Given the description of an element on the screen output the (x, y) to click on. 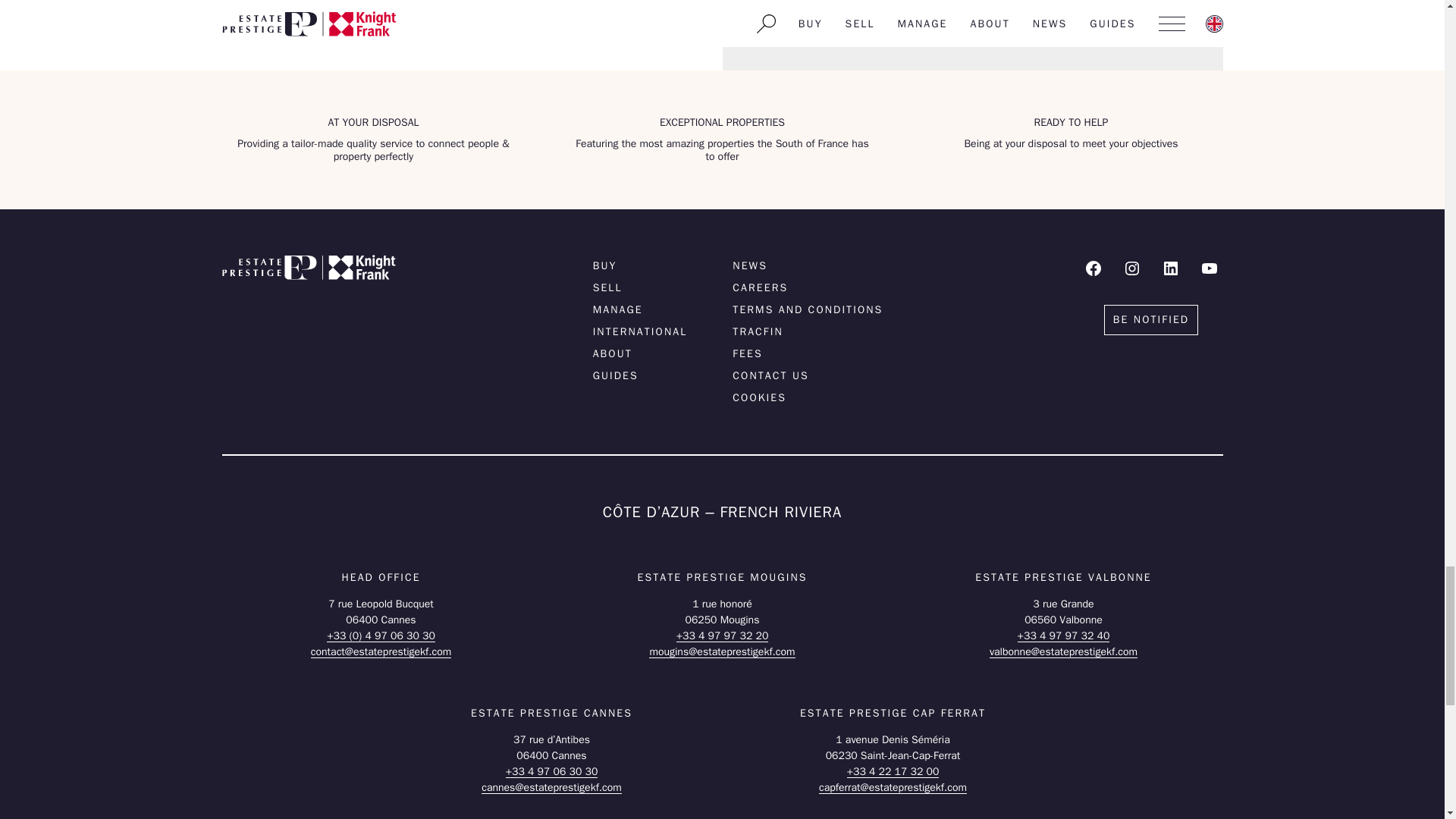
Sign up (448, 12)
